Given the description of an element on the screen output the (x, y) to click on. 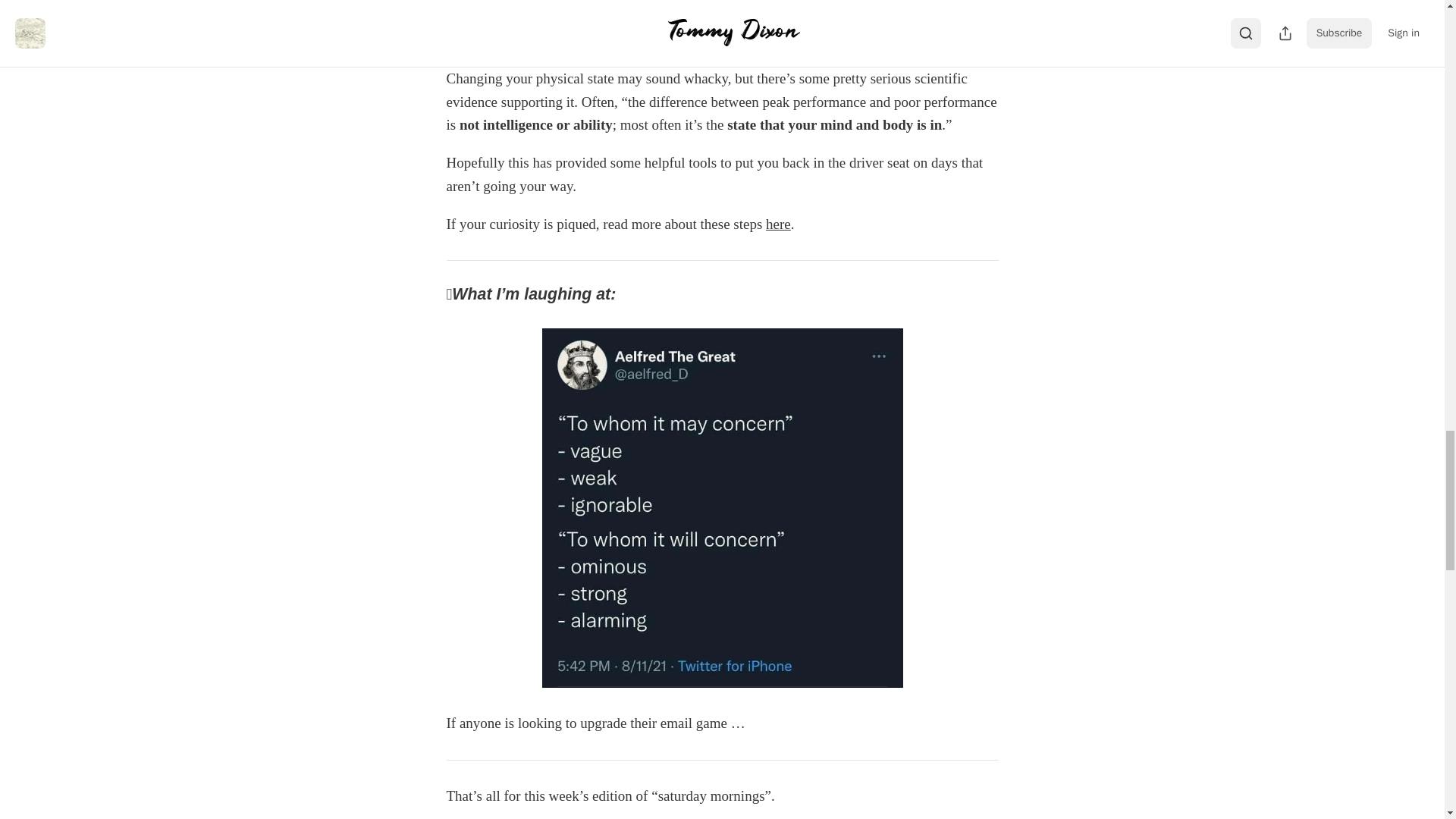
here (777, 223)
